Given the description of an element on the screen output the (x, y) to click on. 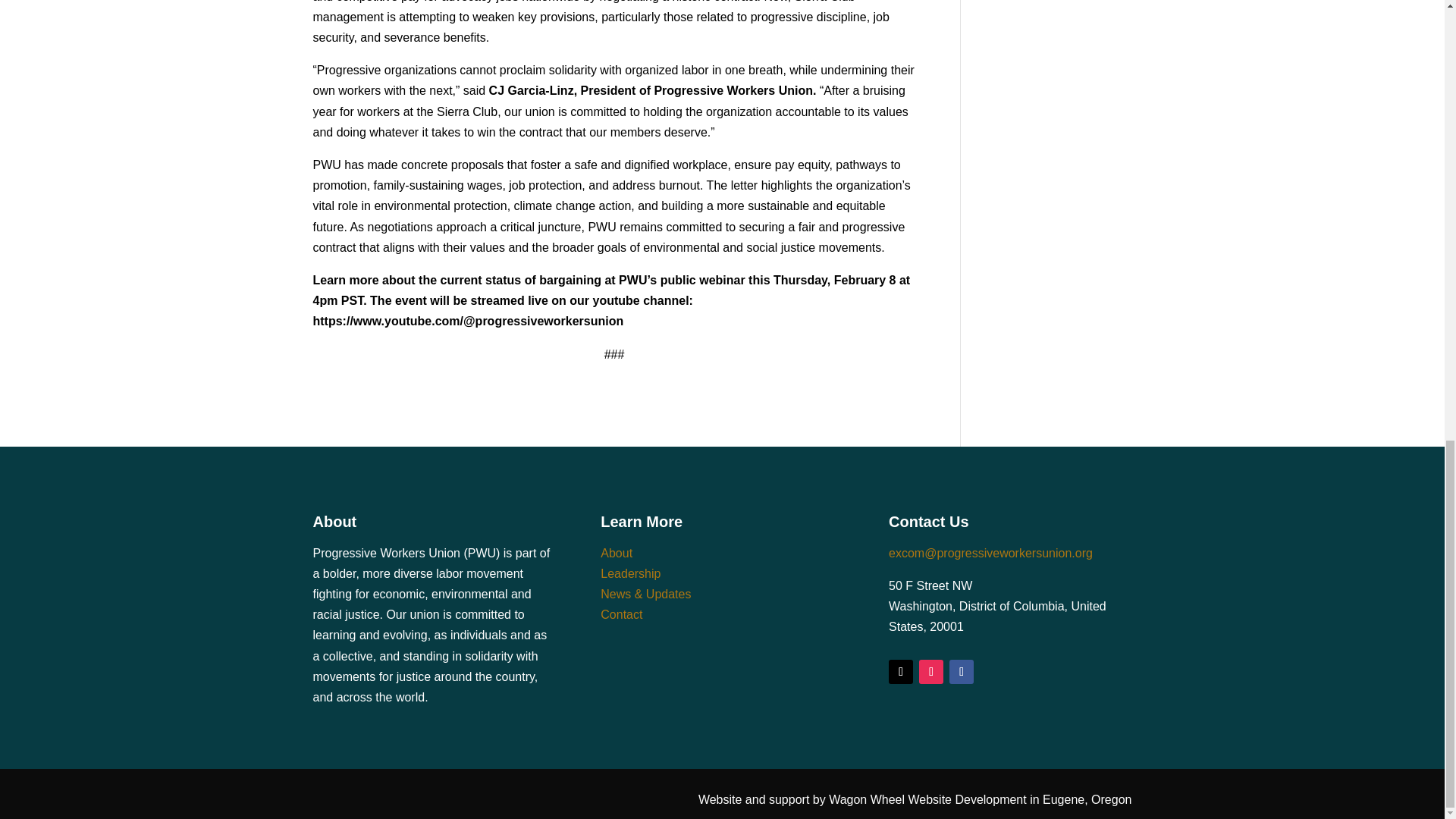
About (615, 553)
Follow on Instagram (930, 671)
Contact (620, 614)
Wagon Wheel Website Development (979, 799)
Leadership (630, 573)
Wagon Wheel Website Development in Eugene, Oregon (979, 799)
Follow on X (900, 671)
Follow on Facebook (961, 671)
